Given the description of an element on the screen output the (x, y) to click on. 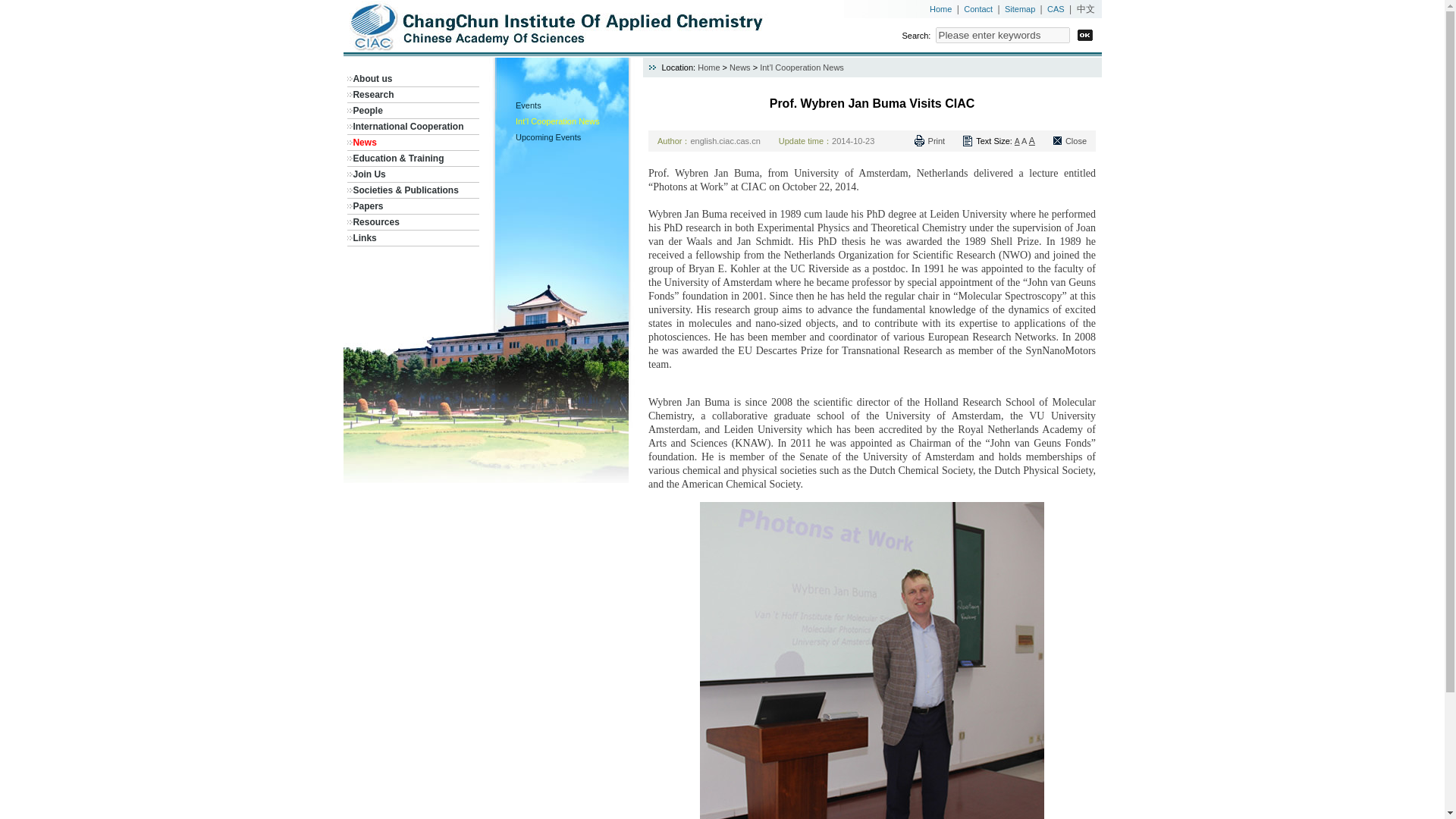
Join Us (368, 173)
Upcoming Events (547, 136)
Papers (367, 205)
International Cooperation (407, 126)
News (740, 67)
Research (372, 94)
People (366, 110)
About us (371, 78)
Links (363, 237)
CAS (1056, 8)
